Given the description of an element on the screen output the (x, y) to click on. 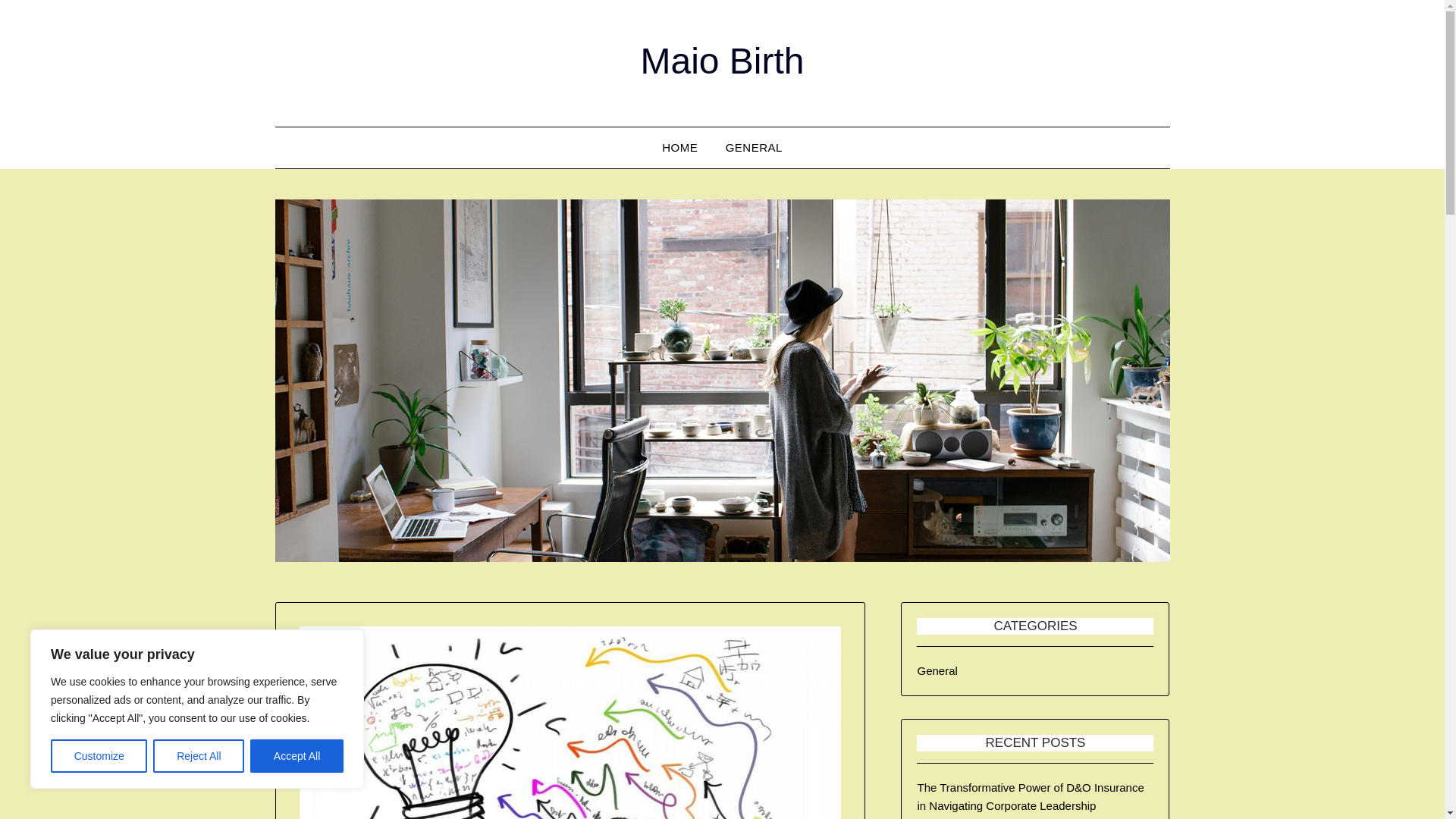
Reject All (198, 756)
GENERAL (753, 147)
Customize (98, 756)
Accept All (296, 756)
HOME (679, 147)
General (936, 670)
Maio Birth (721, 60)
